Given the description of an element on the screen output the (x, y) to click on. 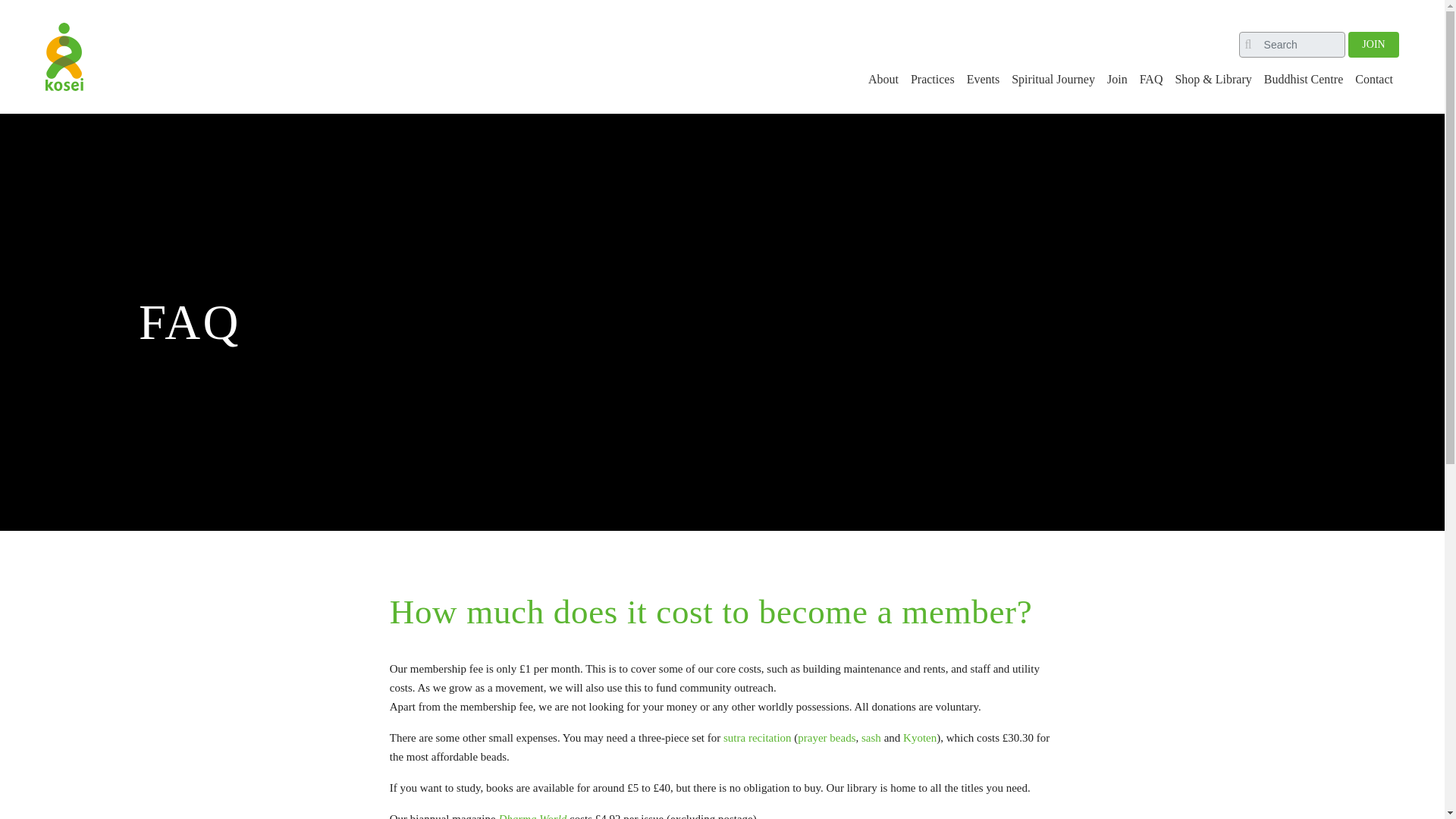
Spiritual Journey (1052, 79)
Events (983, 79)
Dharma World (531, 816)
Practices (933, 79)
sutra recitation (757, 737)
Contact (1374, 79)
JOIN (1373, 42)
Join (1116, 79)
sash (870, 737)
Buddhist Centre (1302, 79)
